Given the description of an element on the screen output the (x, y) to click on. 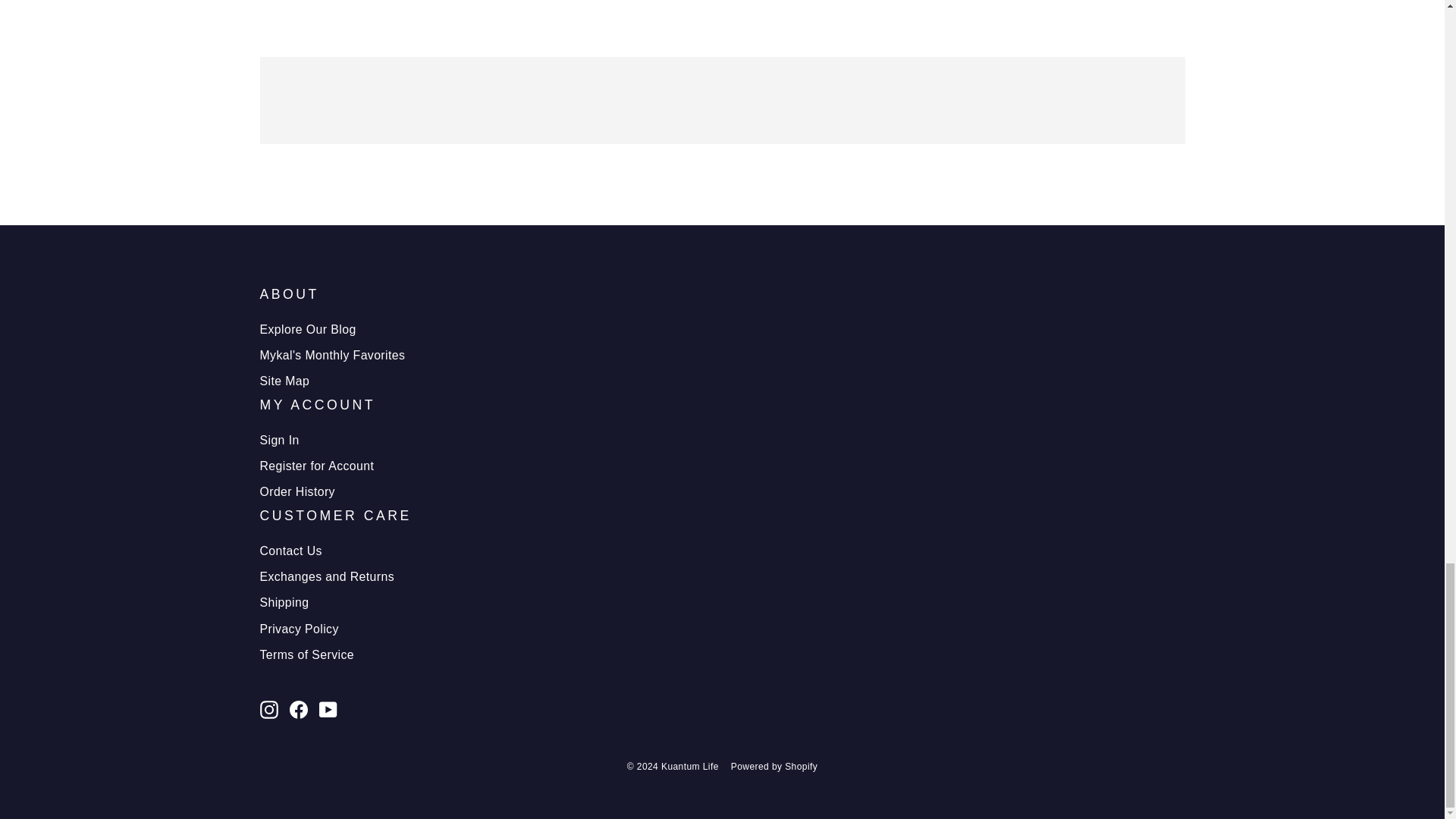
Kuantum Life on Instagram (268, 709)
Kuantum Life on Facebook (298, 709)
Kuantum Life on YouTube (327, 709)
